Given the description of an element on the screen output the (x, y) to click on. 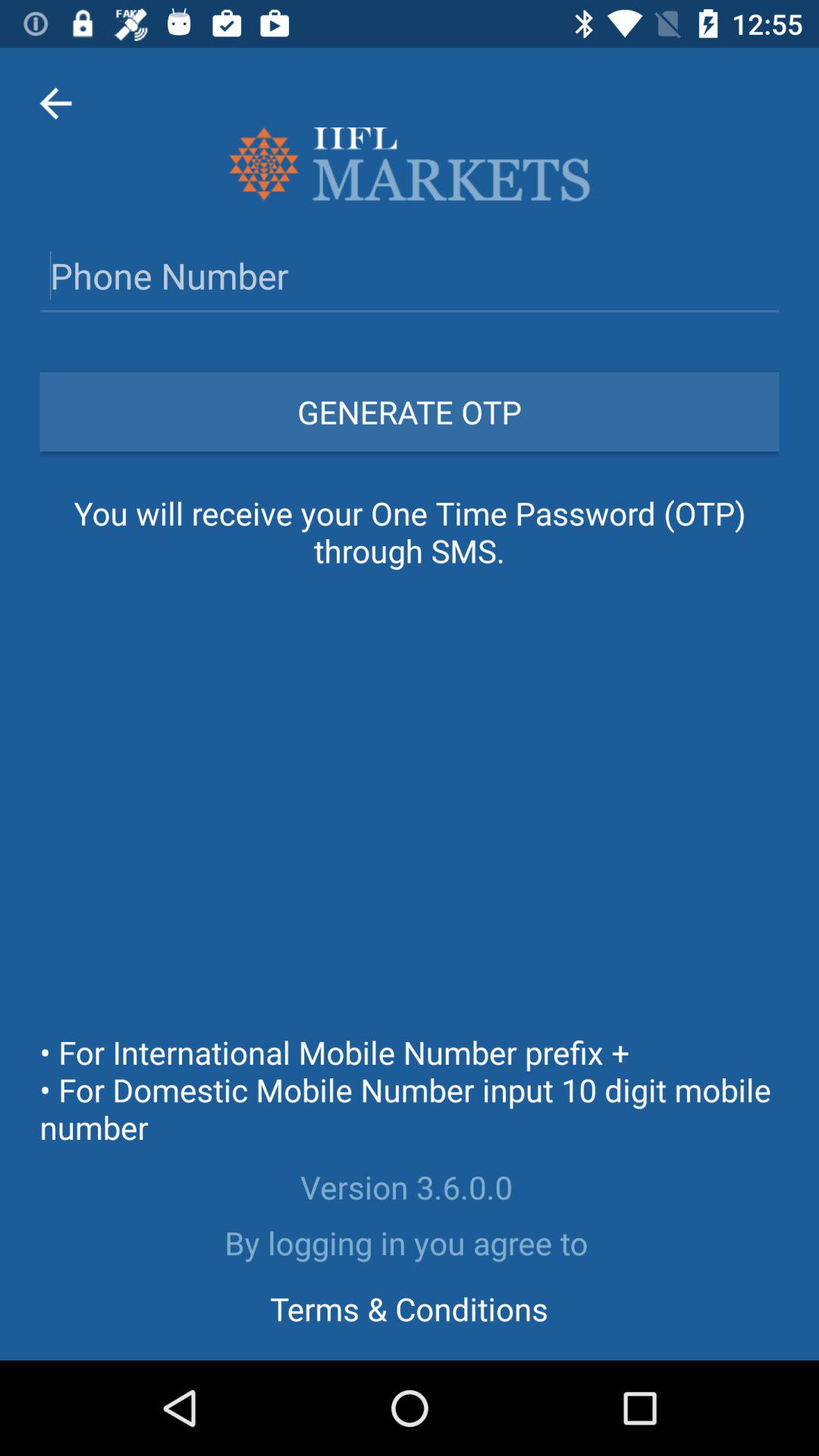
turn off the item above by logging in item (409, 1186)
